Given the description of an element on the screen output the (x, y) to click on. 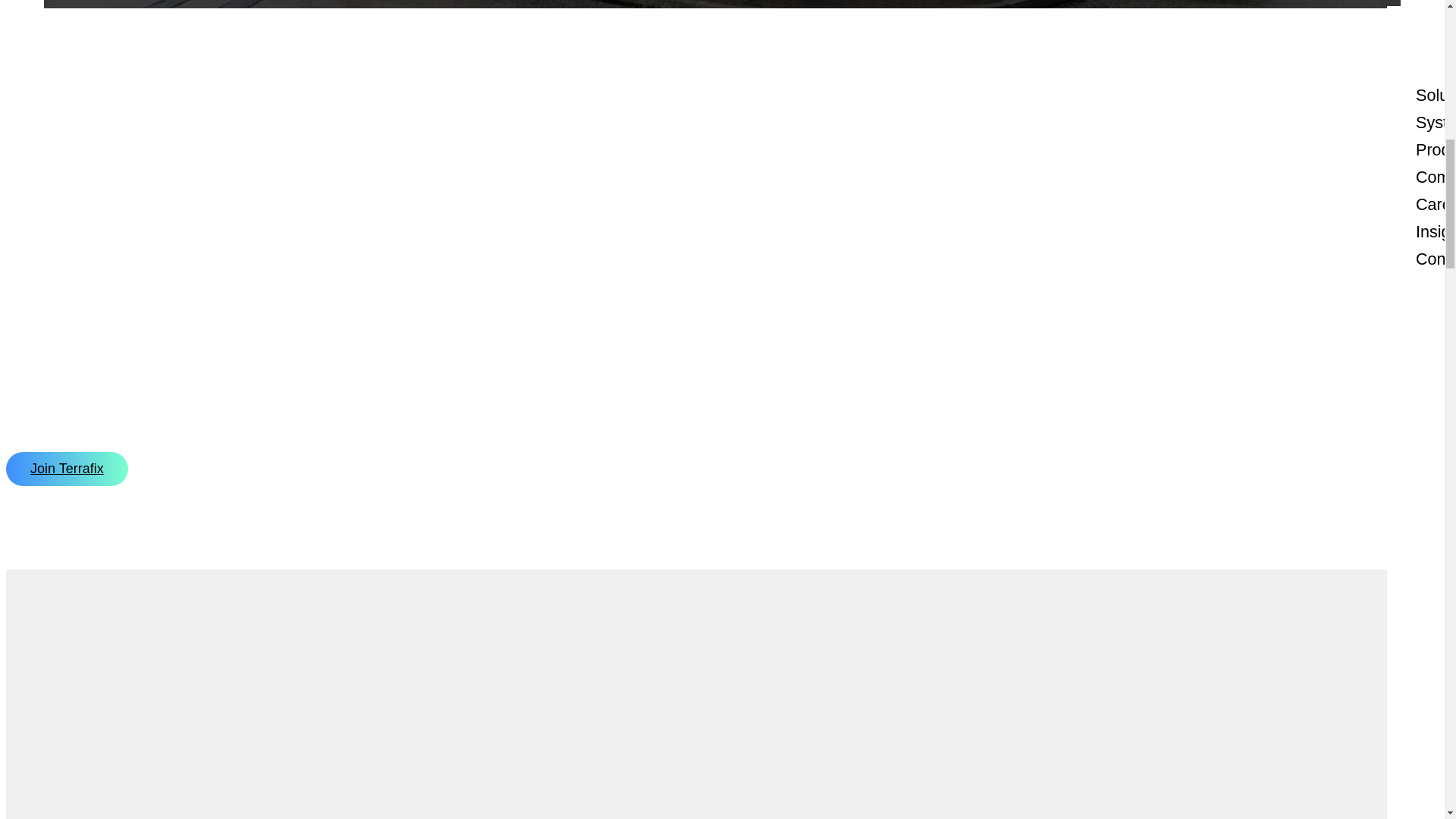
Join Terrafix (66, 469)
